Given the description of an element on the screen output the (x, y) to click on. 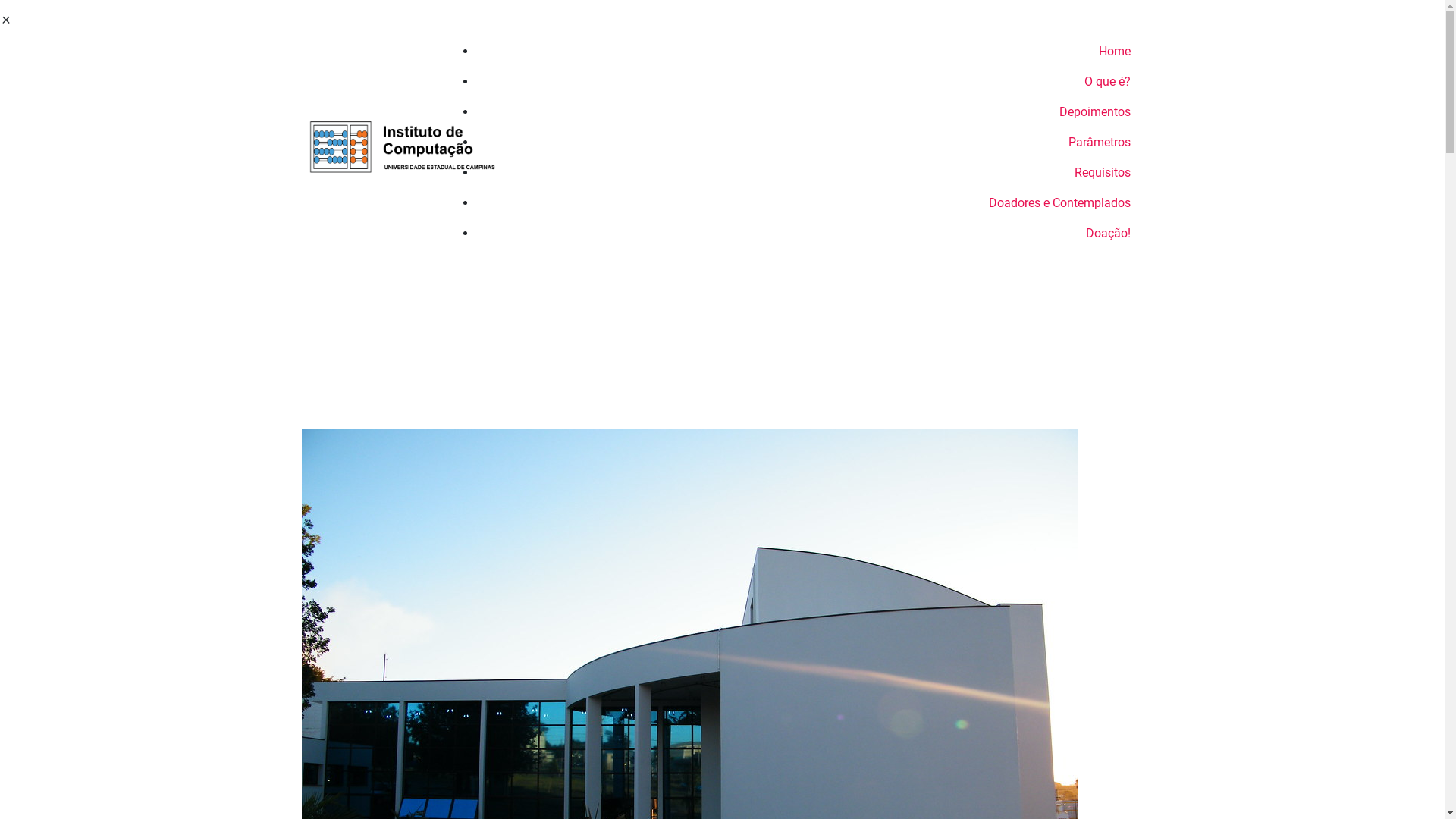
Home Element type: text (809, 51)
Doadores e Contemplados Element type: text (809, 203)
Requisitos Element type: text (809, 172)
Depoimentos Element type: text (809, 112)
